Given the description of an element on the screen output the (x, y) to click on. 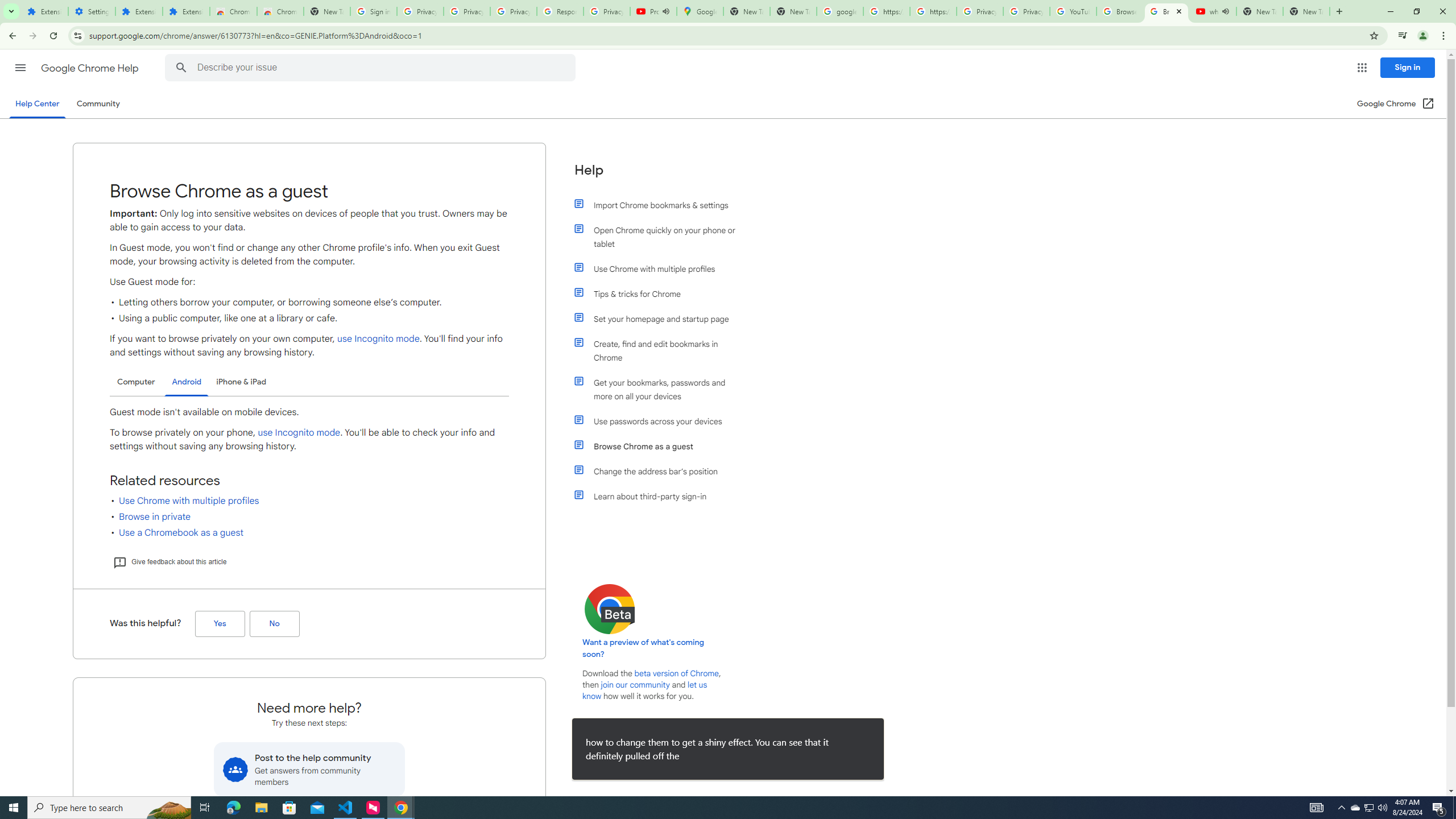
YouTube (1073, 11)
Create, find and edit bookmarks in Chrome (661, 350)
iPhone & iPad (240, 381)
let us know (644, 690)
Sign in - Google Accounts (373, 11)
Yes (Was this helpful?) (219, 623)
Get your bookmarks, passwords and more on all your devices (661, 389)
Browse in private (154, 516)
Set your homepage and startup page (661, 318)
